Given the description of an element on the screen output the (x, y) to click on. 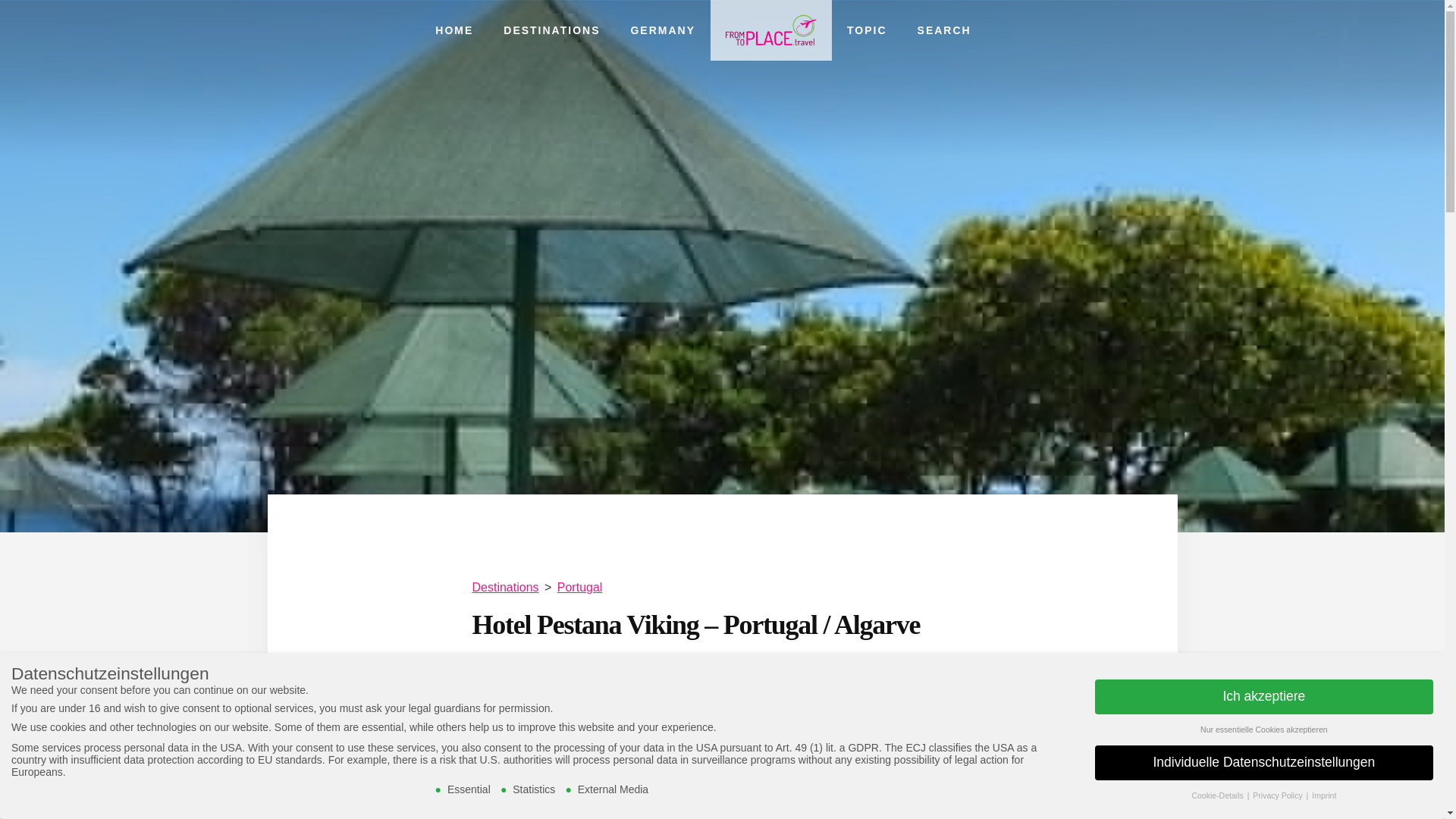
Destinations (504, 586)
SEARCH (944, 30)
GERMANY (662, 30)
DESTINATIONS (550, 30)
Portugal (579, 586)
HOME (453, 30)
TOPIC (866, 30)
